Given the description of an element on the screen output the (x, y) to click on. 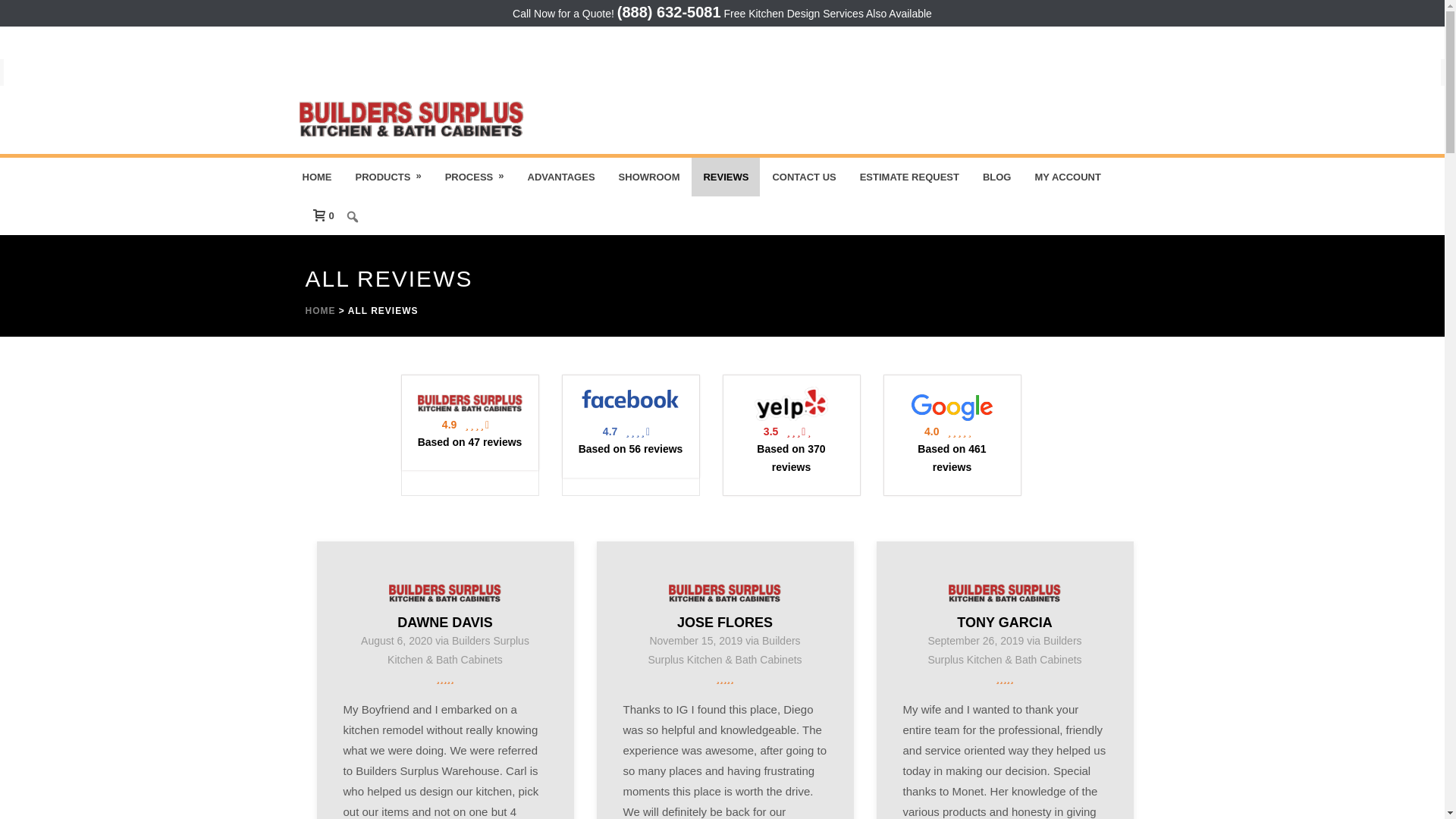
BLOG (997, 177)
HOME (317, 177)
SHOWROOM (649, 177)
PROCESS (474, 177)
MY ACCOUNT (1067, 177)
PRODUCTS (387, 177)
ESTIMATE REQUEST (909, 177)
0 (318, 215)
ESTIMATE REQUEST (909, 177)
Kitchen and Bathroom Cabinets (410, 119)
SHOWROOM (649, 177)
ADVANTAGES (560, 177)
REVIEWS (725, 177)
CONTACT US (803, 177)
PROCESS (474, 177)
